Given the description of an element on the screen output the (x, y) to click on. 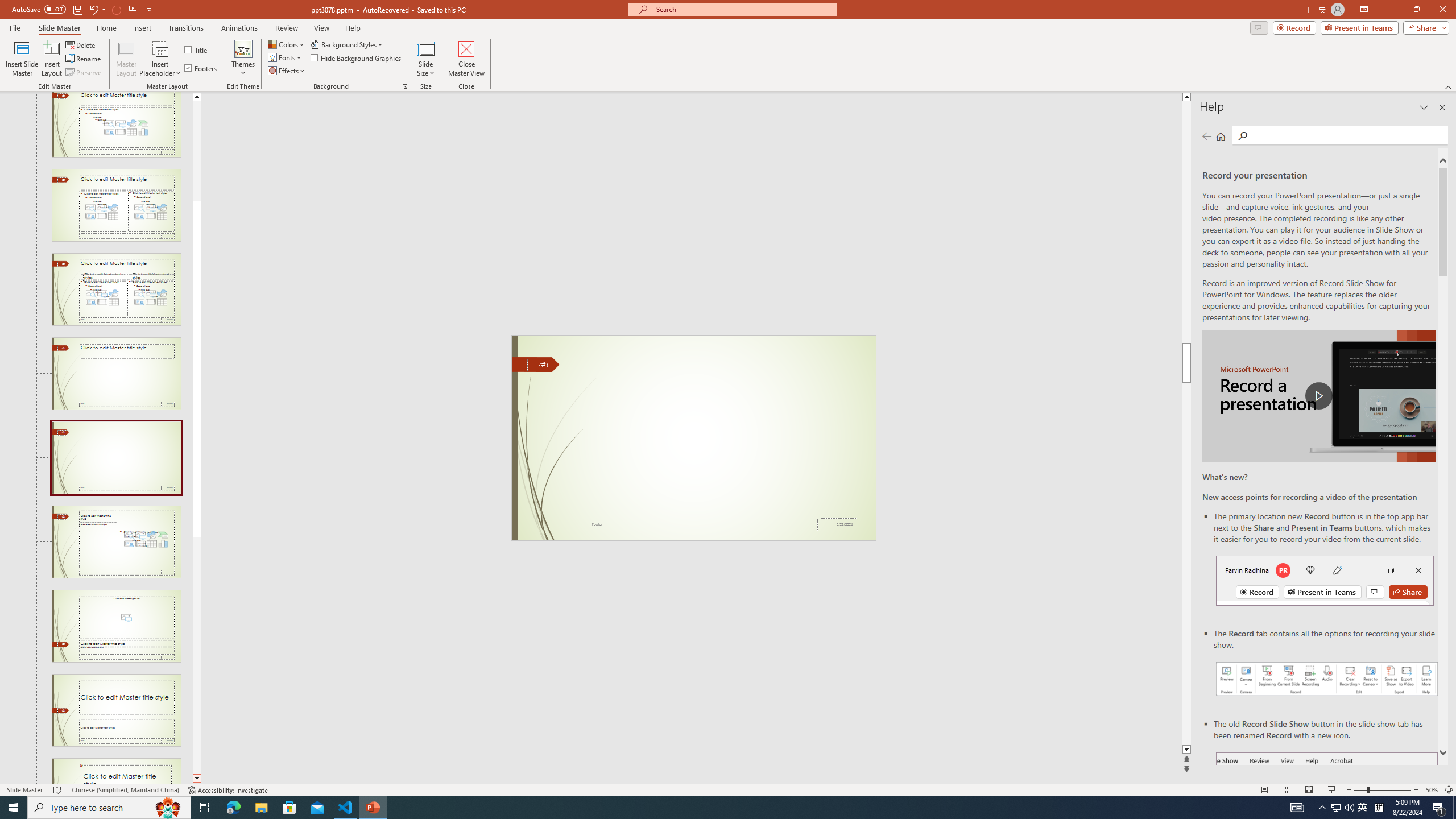
Content (160, 48)
Reading View (1308, 790)
Effects (287, 69)
Slide Title Only Layout: used by no slides (116, 373)
More Options (160, 68)
Background Styles (347, 44)
Review (286, 28)
Task Pane Options (1423, 107)
Help (352, 28)
Title (196, 49)
Slide Picture with Caption Layout: used by no slides (116, 625)
Preserve (84, 72)
Insert Slide Master (21, 58)
Rename (84, 58)
